Given the description of an element on the screen output the (x, y) to click on. 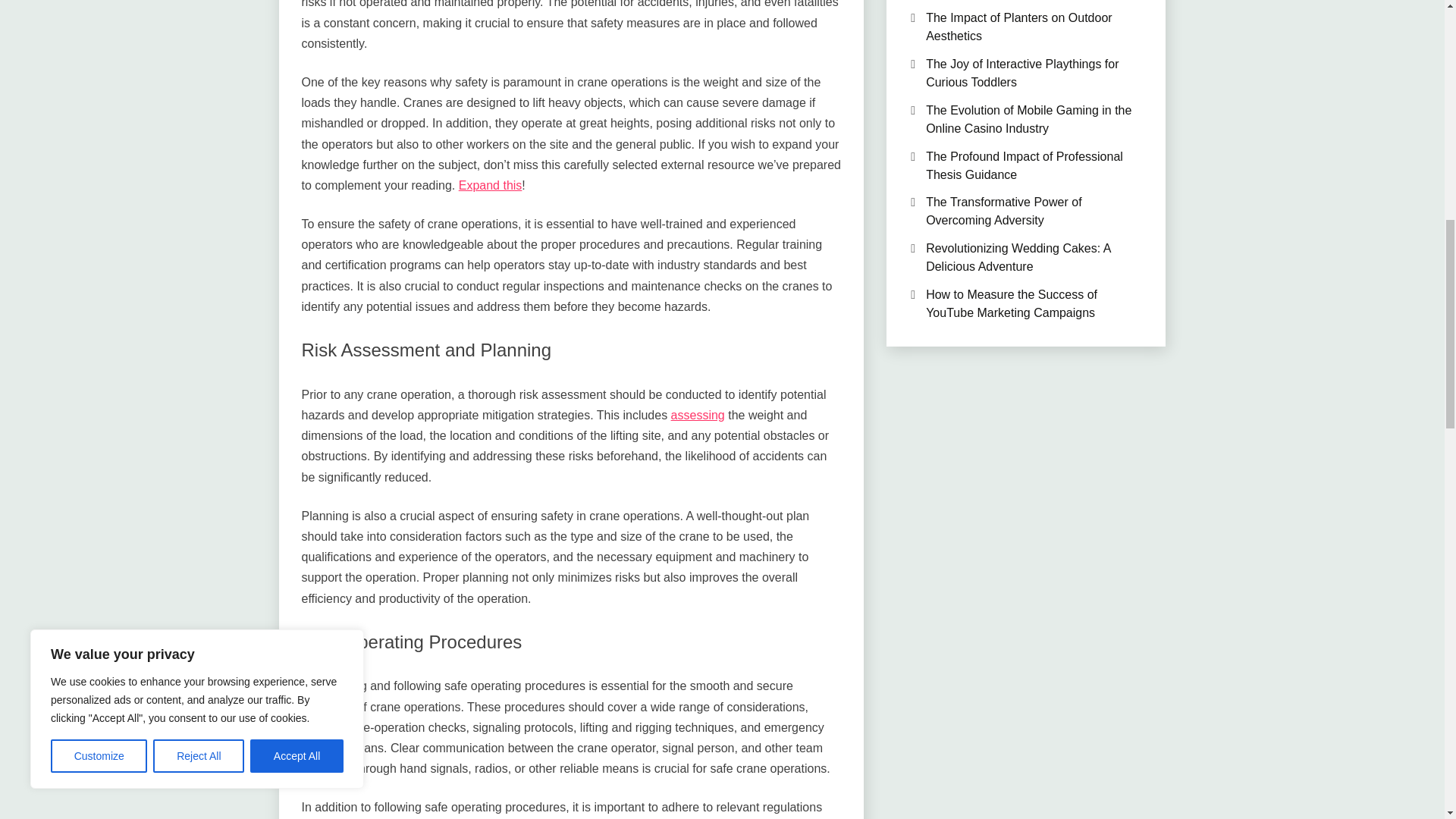
assessing (698, 414)
Expand this (490, 185)
